Given the description of an element on the screen output the (x, y) to click on. 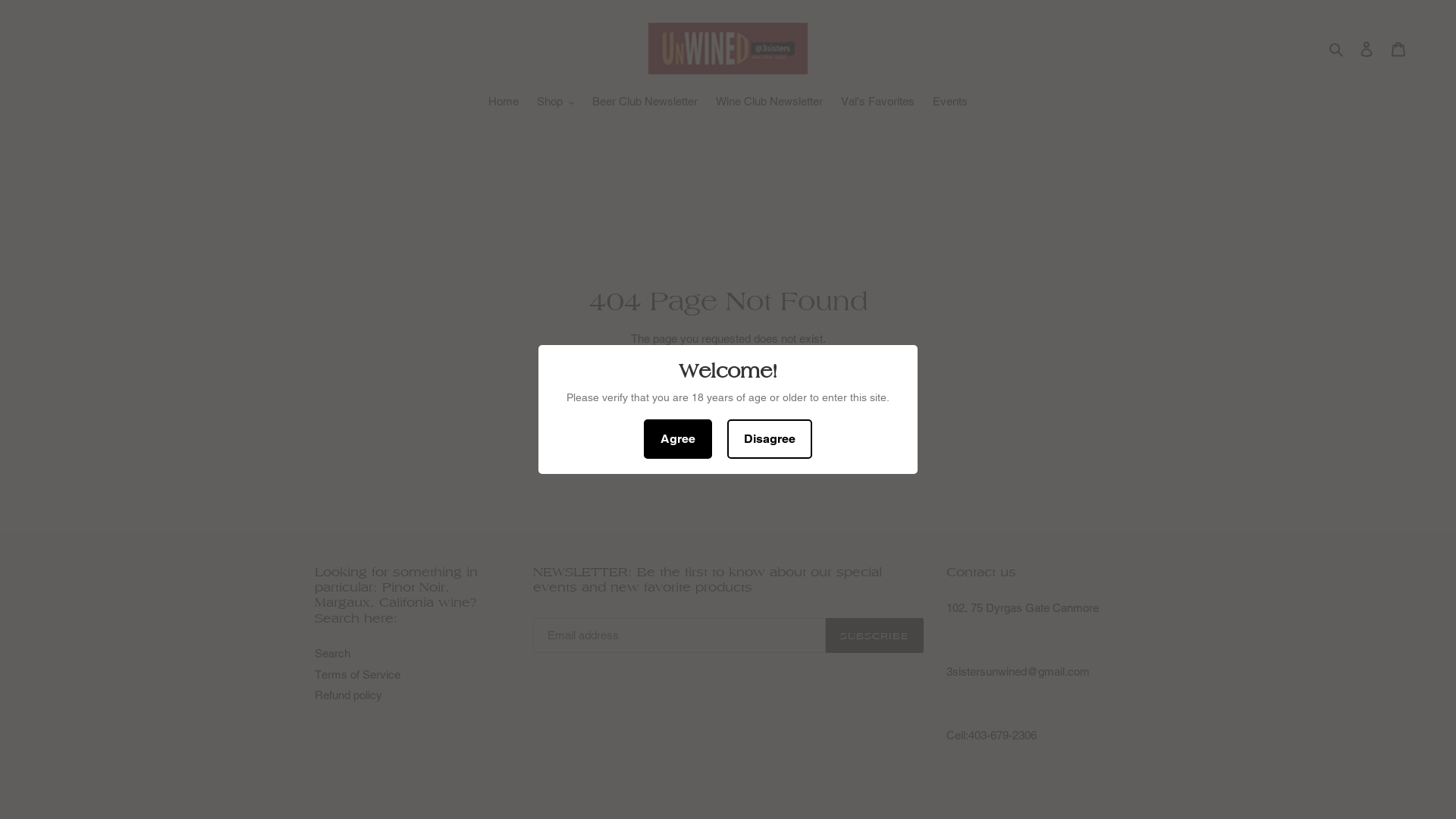
Events Element type: text (950, 102)
Shop Element type: text (555, 102)
CONTINUE SHOPPING Element type: text (727, 378)
Val's Favorites Element type: text (877, 102)
Refund policy Element type: text (348, 694)
Log in Element type: text (1366, 48)
Beer Club Newsletter Element type: text (644, 102)
Wine Club Newsletter Element type: text (769, 102)
Search Element type: text (332, 652)
Search Element type: text (1337, 48)
SUBSCRIBE Element type: text (873, 635)
Cart Element type: text (1398, 48)
Disagree Element type: text (769, 438)
Terms of Service Element type: text (357, 674)
Home Element type: text (503, 102)
Agree Element type: text (677, 438)
